Given the description of an element on the screen output the (x, y) to click on. 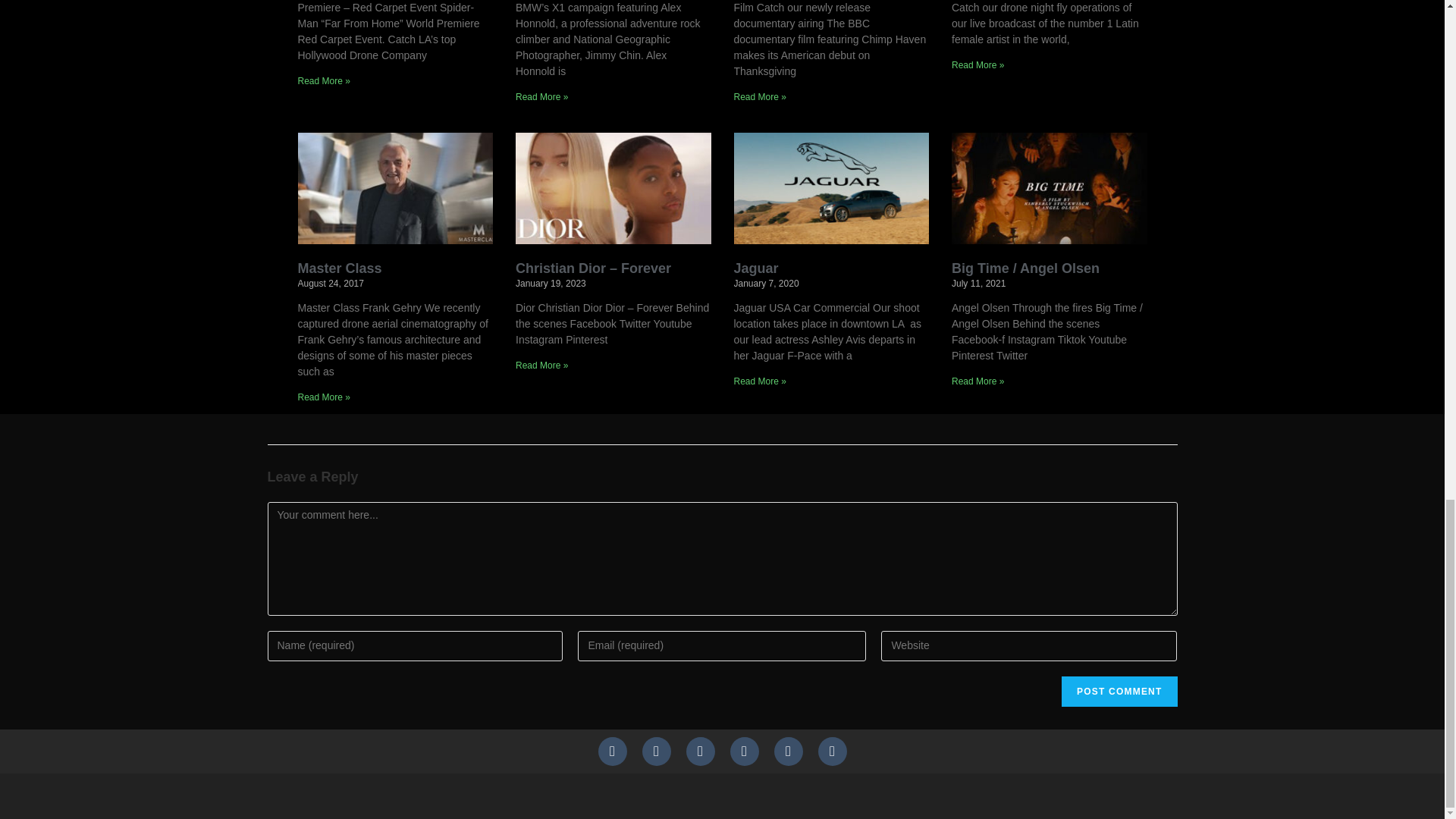
Post Comment (1118, 691)
Master Class (339, 268)
